Given the description of an element on the screen output the (x, y) to click on. 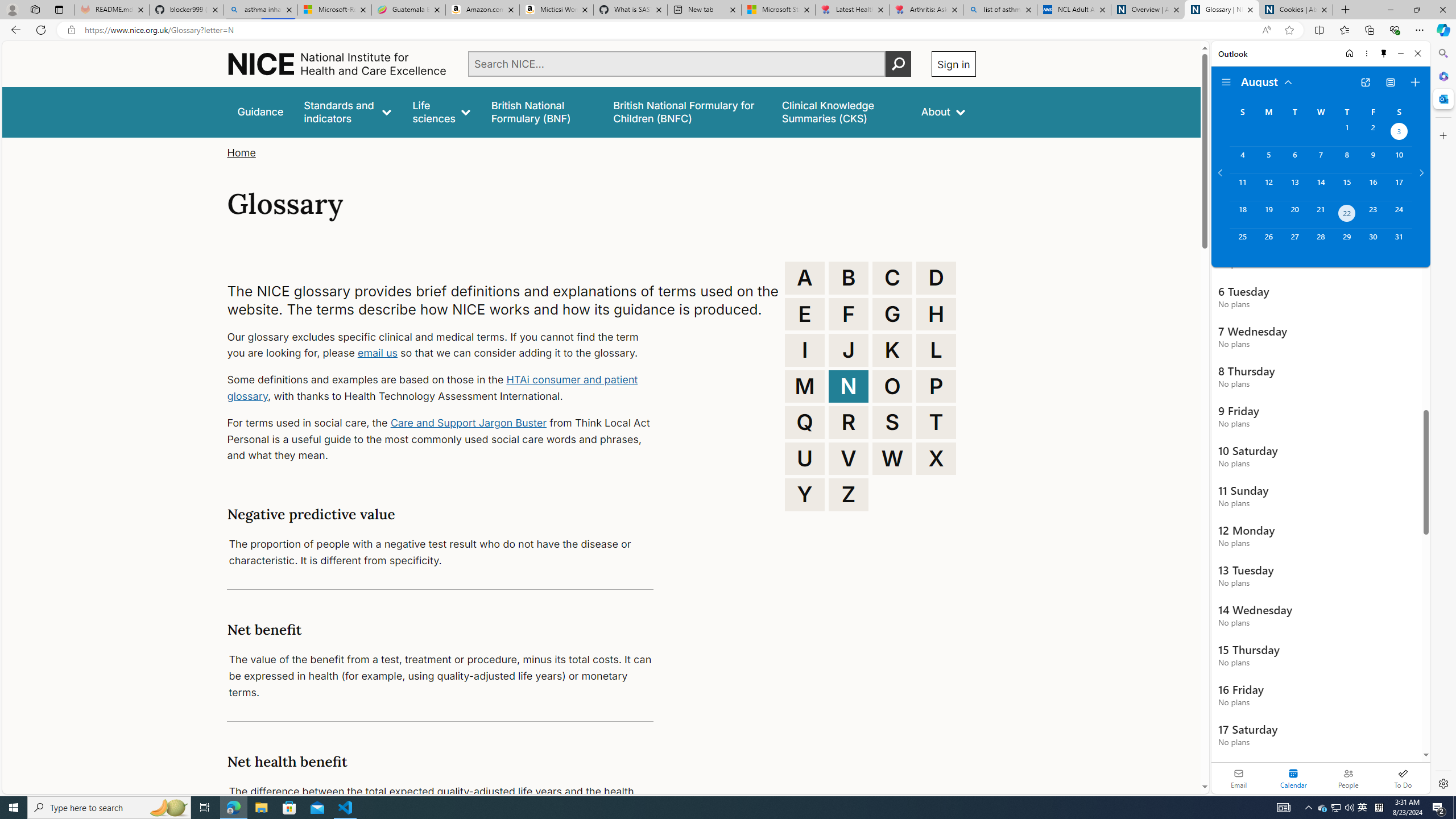
F (848, 313)
Wednesday, August 14, 2024.  (1320, 186)
Wednesday, August 7, 2024.  (1320, 159)
Sign in (952, 63)
Saturday, August 31, 2024.  (1399, 241)
Settings (1442, 783)
More options (1366, 53)
U (804, 458)
Search (1442, 53)
V (848, 458)
U (804, 458)
View site information (70, 29)
Z (848, 494)
